Given the description of an element on the screen output the (x, y) to click on. 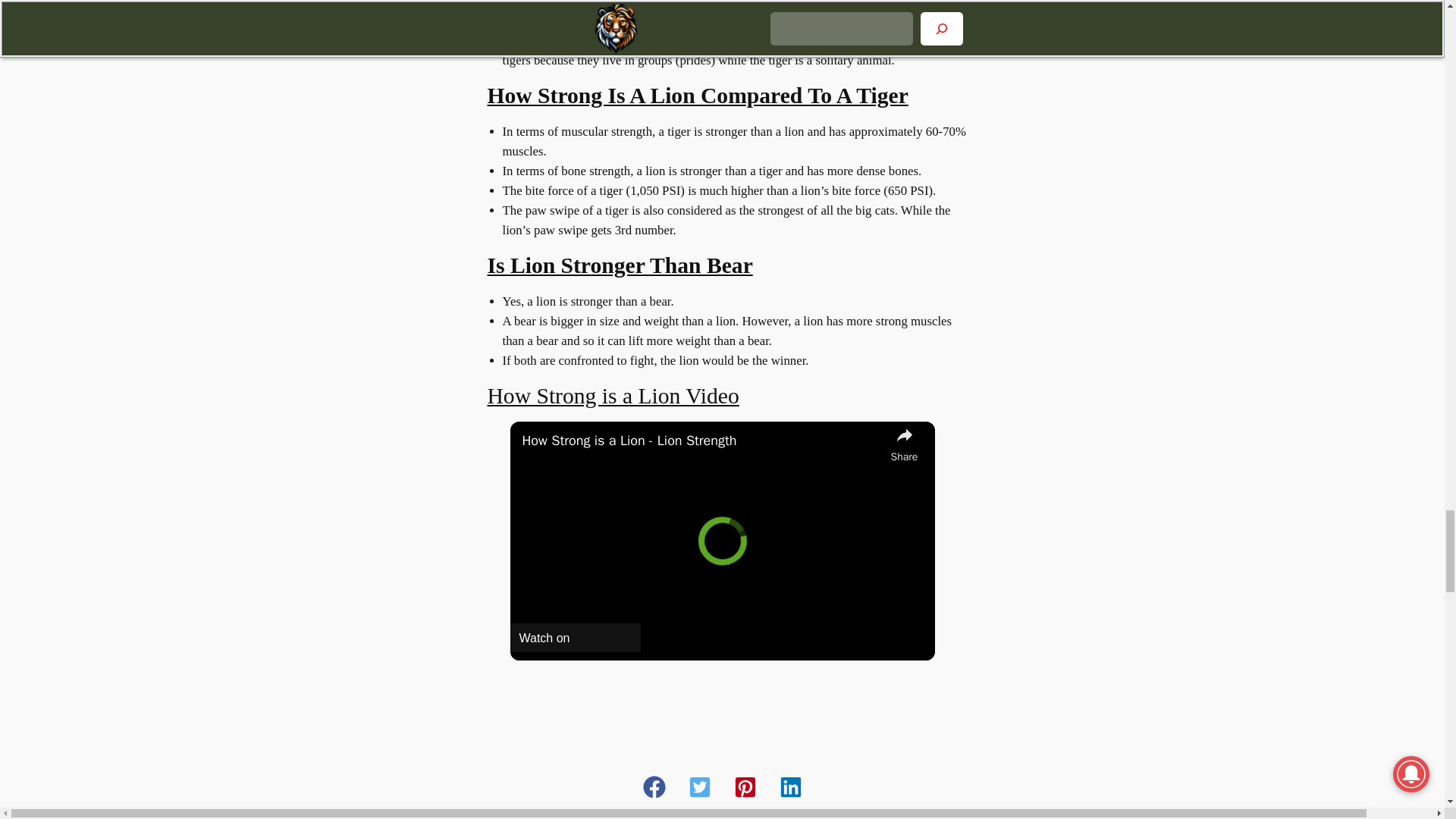
Share (903, 443)
share (903, 443)
Watch on (574, 637)
How Strong is a Lion - Lion Strength (701, 441)
